Given the description of an element on the screen output the (x, y) to click on. 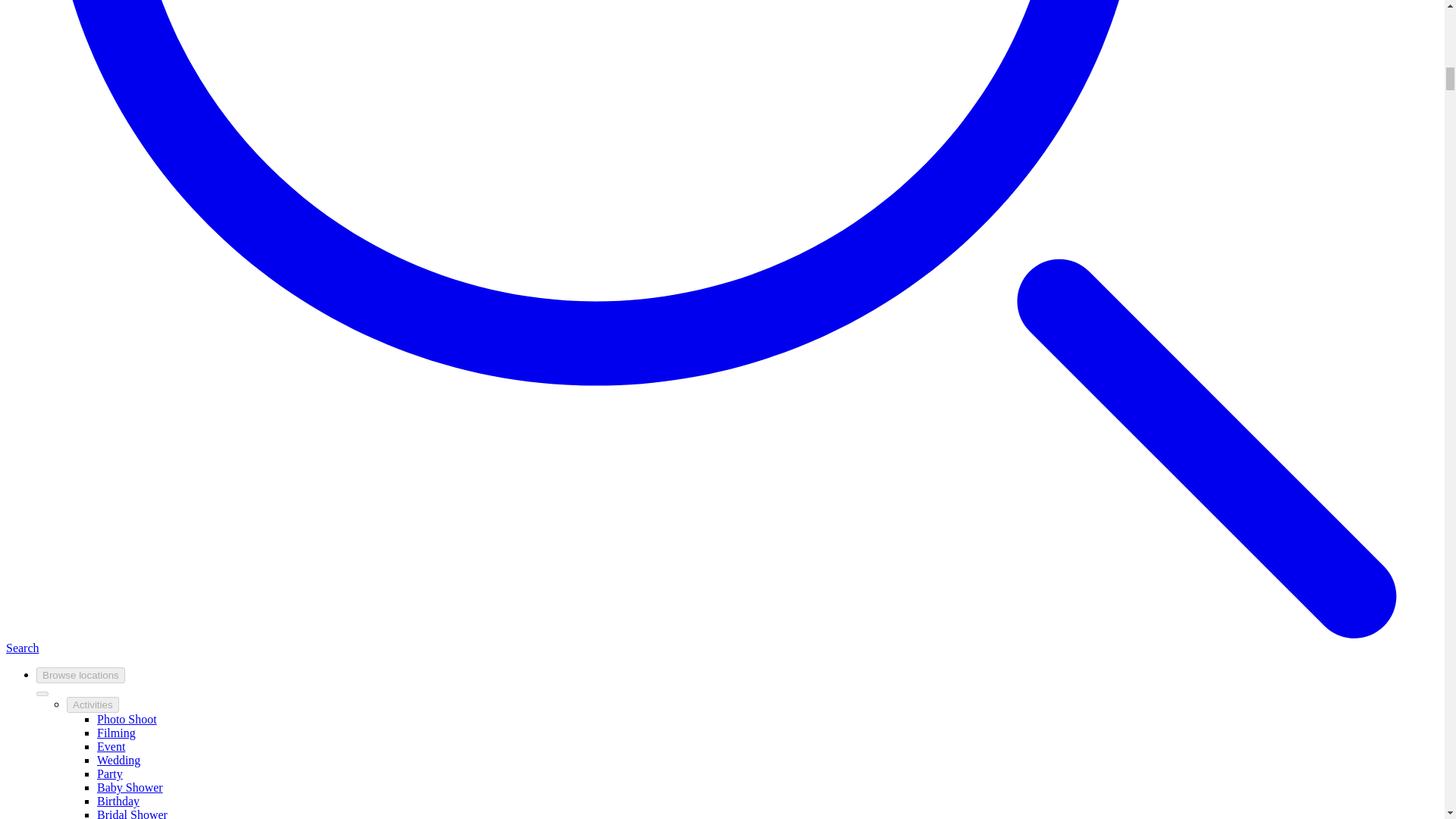
Photo Shoot (127, 718)
Event (111, 746)
Bridal Shower (132, 813)
Birthday (118, 800)
Activities (92, 704)
Browse locations (80, 675)
Baby Shower (130, 787)
Filming (116, 732)
Wedding (118, 759)
Party (109, 773)
